Given the description of an element on the screen output the (x, y) to click on. 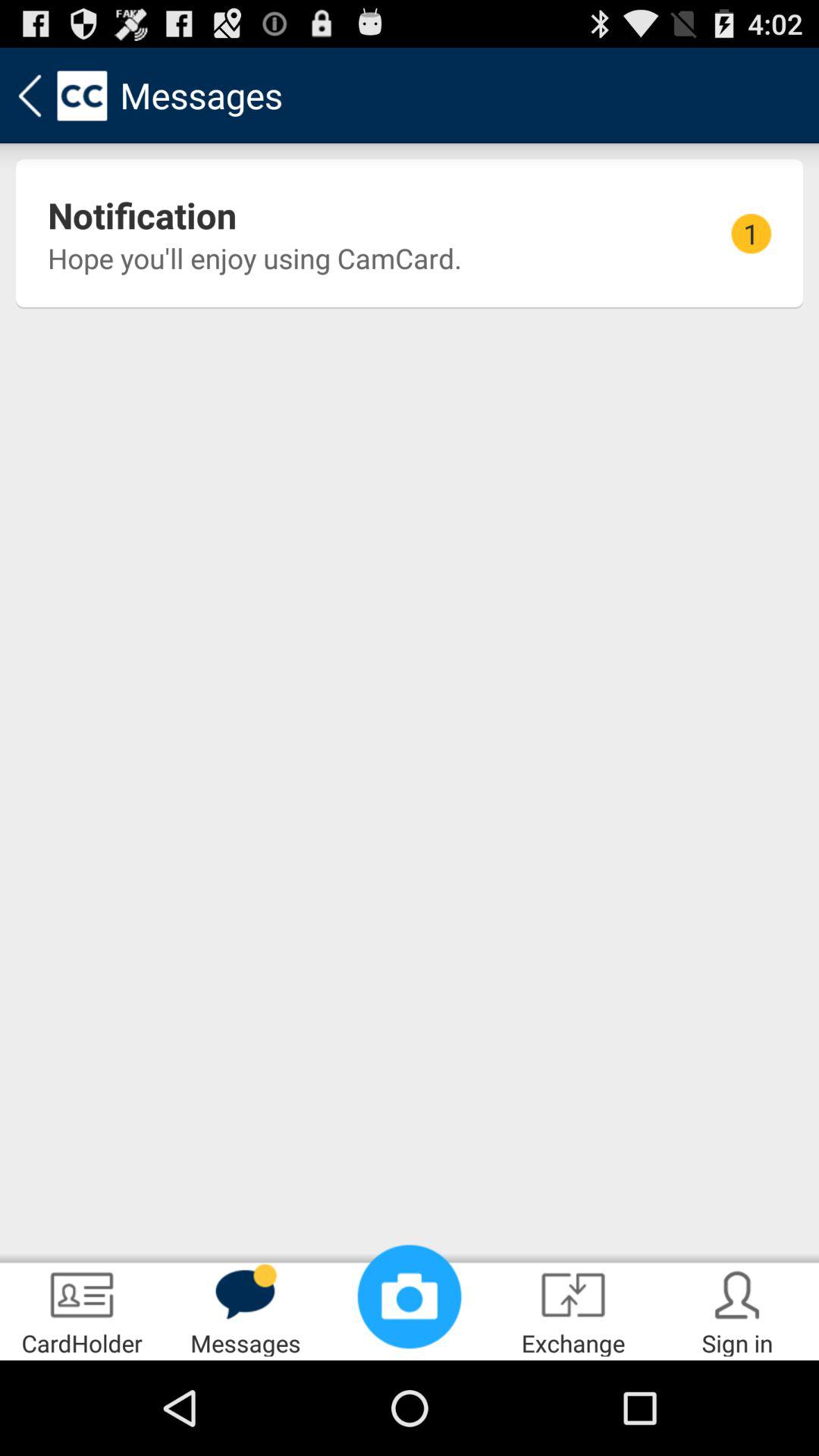
select app next to messages (81, 1309)
